Given the description of an element on the screen output the (x, y) to click on. 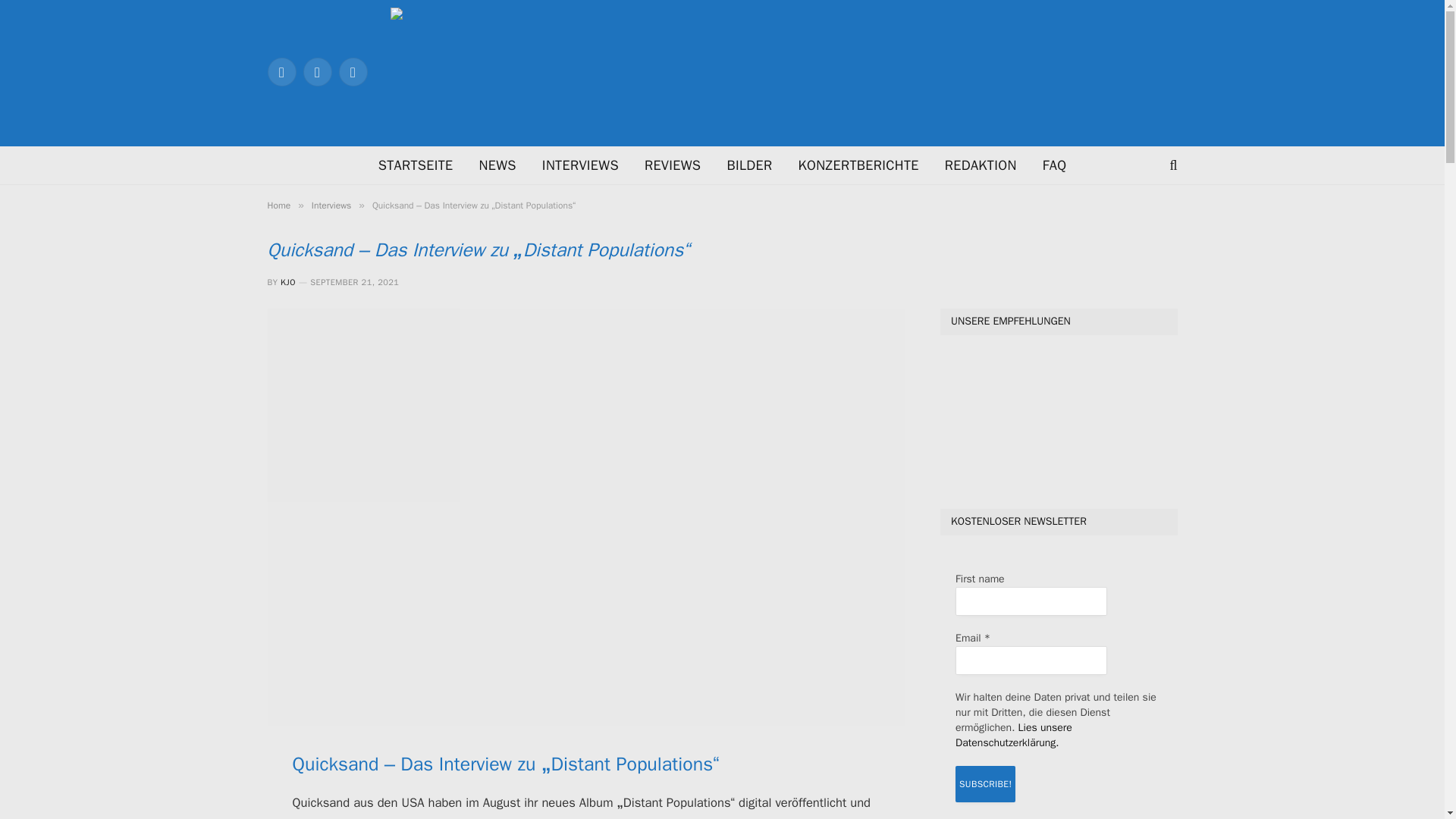
REVIEWS (672, 165)
NEWS (497, 165)
INTERVIEWS (580, 165)
KONZERTBERICHTE (857, 165)
Email (1030, 660)
YouTube (351, 71)
Subscribe! (984, 783)
KJO (288, 281)
Subscribe! (984, 783)
